Given the description of an element on the screen output the (x, y) to click on. 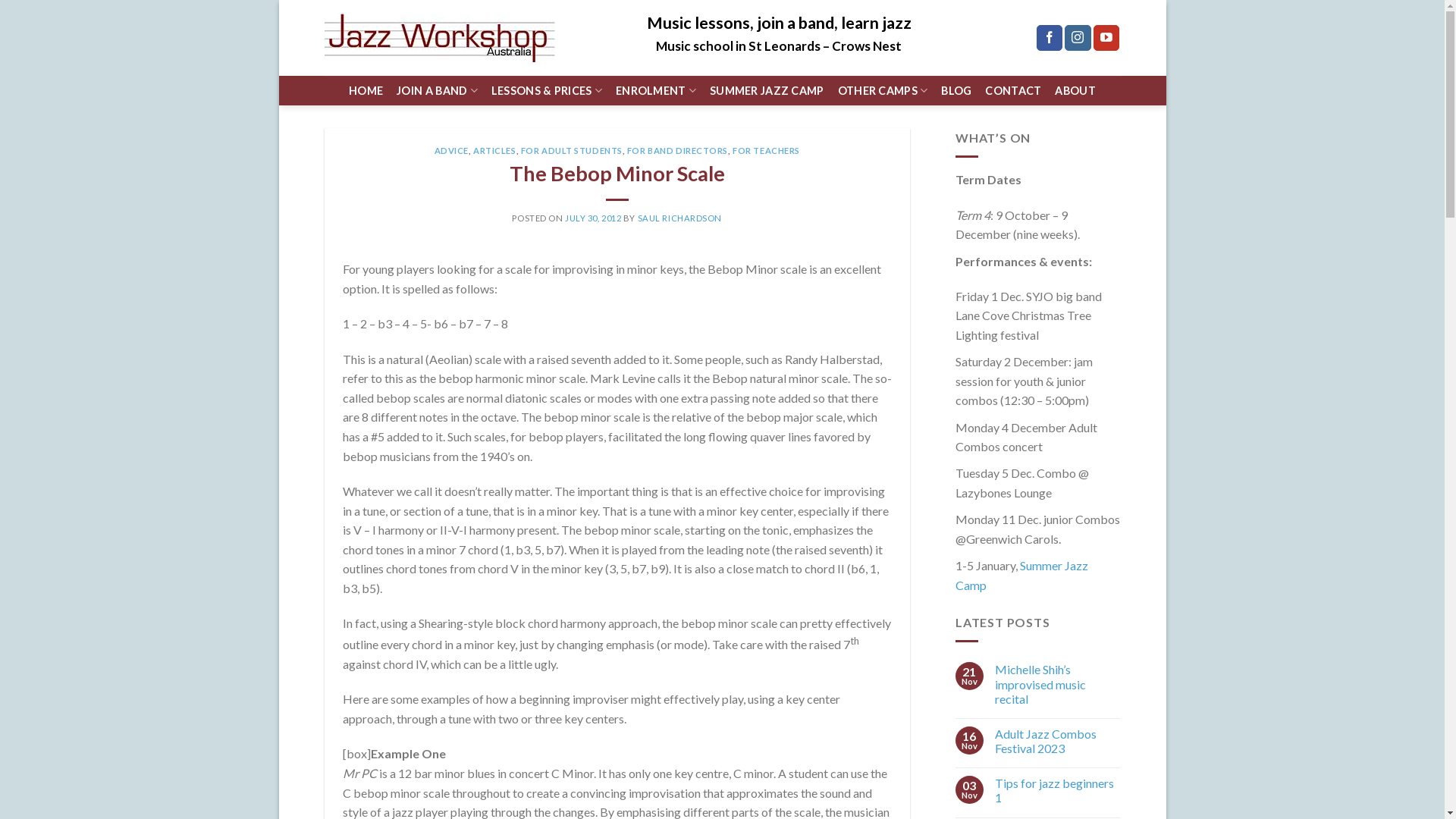
FOR BAND DIRECTORS Element type: text (677, 150)
FOR TEACHERS Element type: text (766, 150)
SUMMER JAZZ CAMP Element type: text (766, 90)
BLOG Element type: text (956, 90)
ABOUT Element type: text (1074, 90)
FOR ADULT STUDENTS Element type: text (571, 150)
OTHER CAMPS Element type: text (882, 90)
JOIN A BAND Element type: text (436, 90)
Follow on Instagram Element type: hover (1077, 37)
Adult Jazz Combos Festival 2023 Element type: text (1057, 740)
ARTICLES Element type: text (494, 150)
Tips for jazz beginners 1 Element type: text (1057, 789)
CONTACT Element type: text (1013, 90)
Follow on YouTube Element type: hover (1106, 37)
ADVICE Element type: text (451, 150)
Follow on Facebook Element type: hover (1049, 37)
ENROLMENT Element type: text (655, 90)
LESSONS & PRICES Element type: text (546, 90)
HOME Element type: text (365, 90)
Summer Jazz Camp Element type: text (1021, 575)
SAUL RICHARDSON Element type: text (679, 217)
JULY 30, 2012 Element type: text (592, 217)
